Given the description of an element on the screen output the (x, y) to click on. 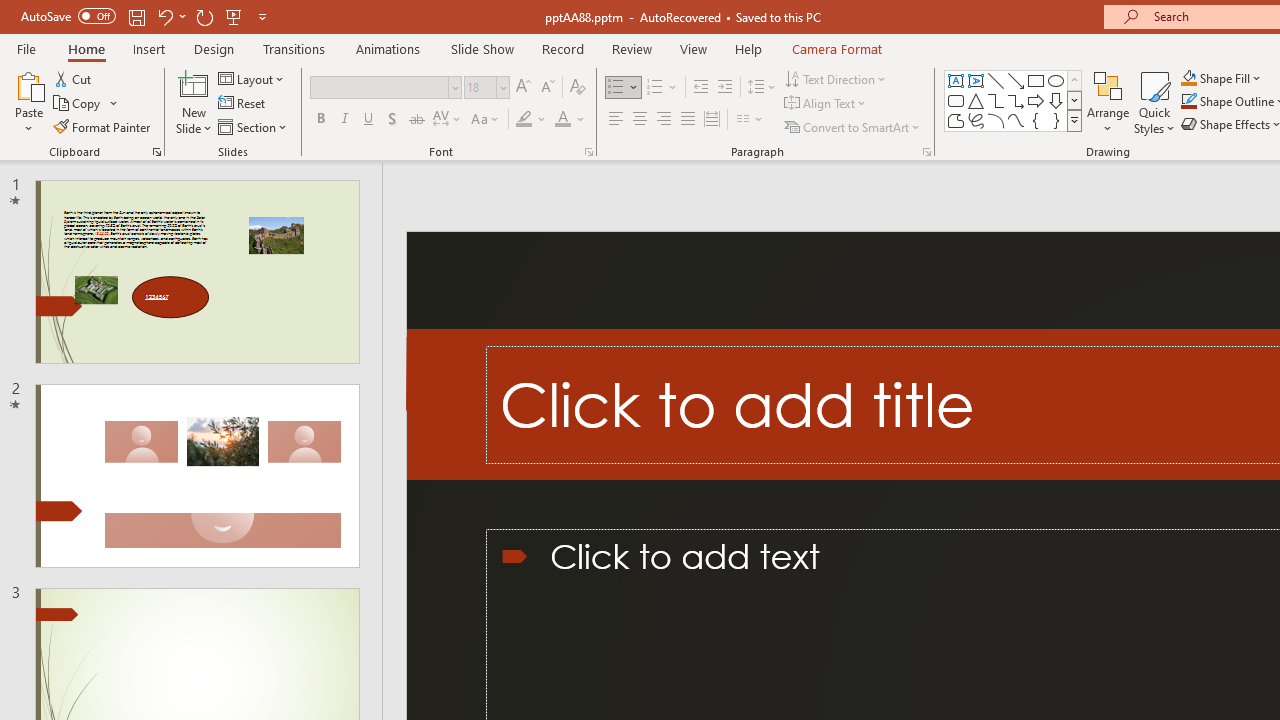
Line Spacing (762, 87)
Copy (85, 103)
Numbering (654, 87)
Font (385, 87)
Change Case (486, 119)
Freeform: Scribble (975, 120)
Row up (1074, 79)
Connector: Elbow (995, 100)
Connector: Elbow Arrow (1016, 100)
Class: NetUIImage (1075, 120)
Increase Indent (725, 87)
Arrow: Right (1035, 100)
Text Direction (836, 78)
